Given the description of an element on the screen output the (x, y) to click on. 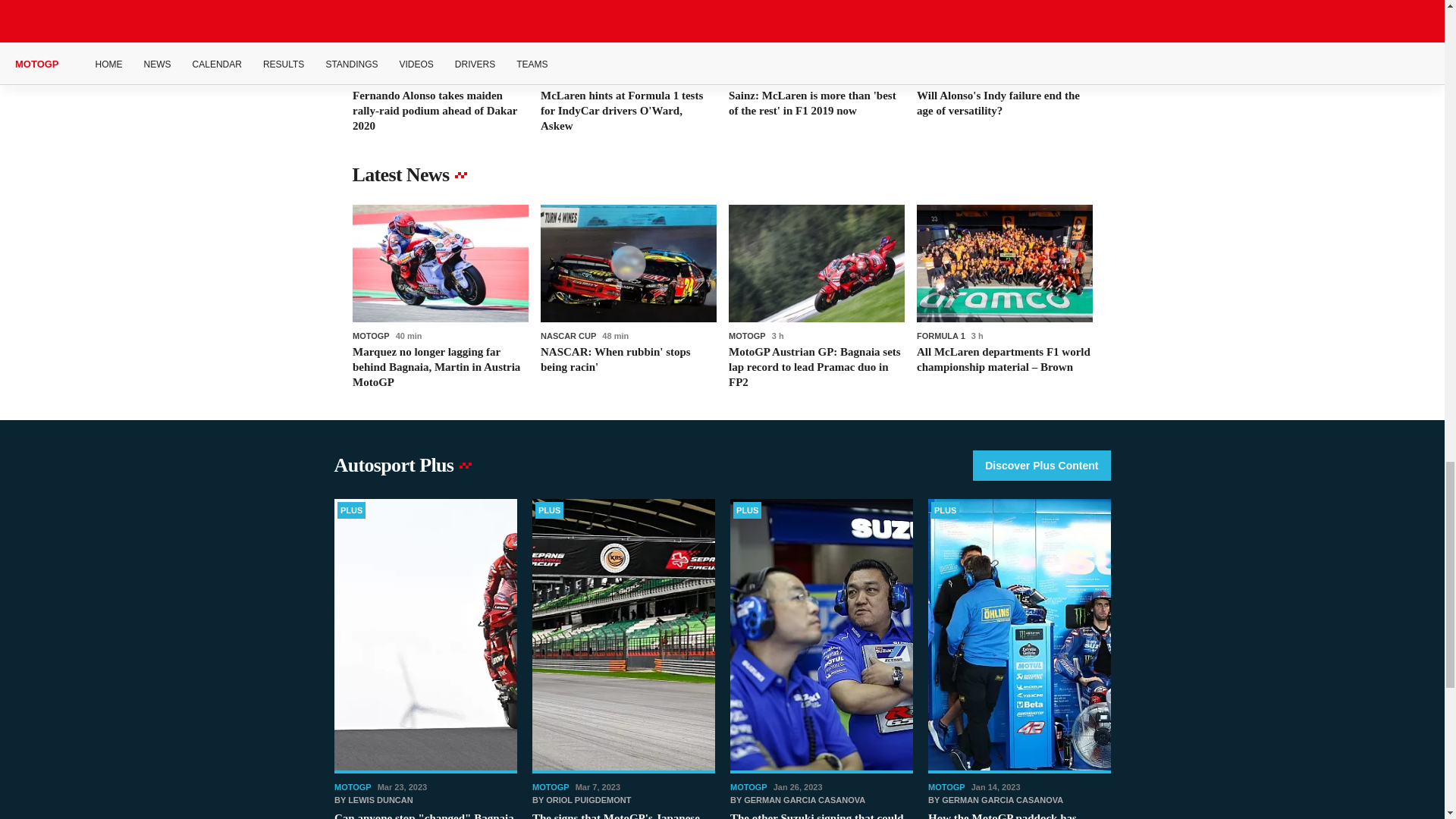
NASCAR: When rubbin' stops being racin' (628, 296)
Will Alonso's Indy failure end the age of versatility? (1003, 66)
